Given the description of an element on the screen output the (x, y) to click on. 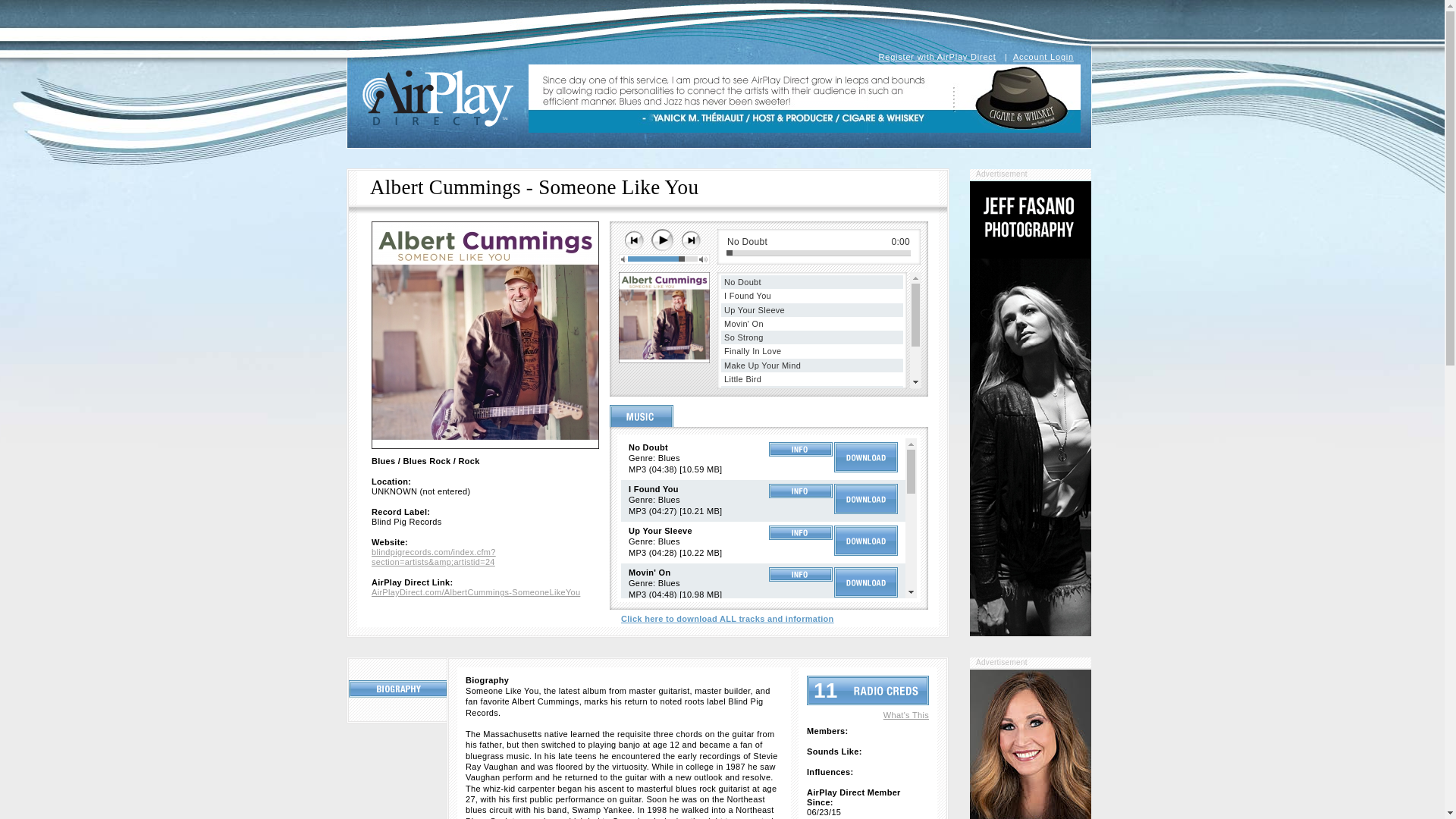
Download (866, 707)
80 (662, 258)
Info (800, 574)
What's This (905, 714)
Info (800, 616)
Download (866, 457)
Music (641, 415)
Biography (398, 688)
Info (800, 532)
Click here to download ALL tracks and information (727, 618)
Register with AirPlay Direct (936, 56)
Download (866, 540)
0 (818, 252)
Download (866, 818)
Info (800, 657)
